Given the description of an element on the screen output the (x, y) to click on. 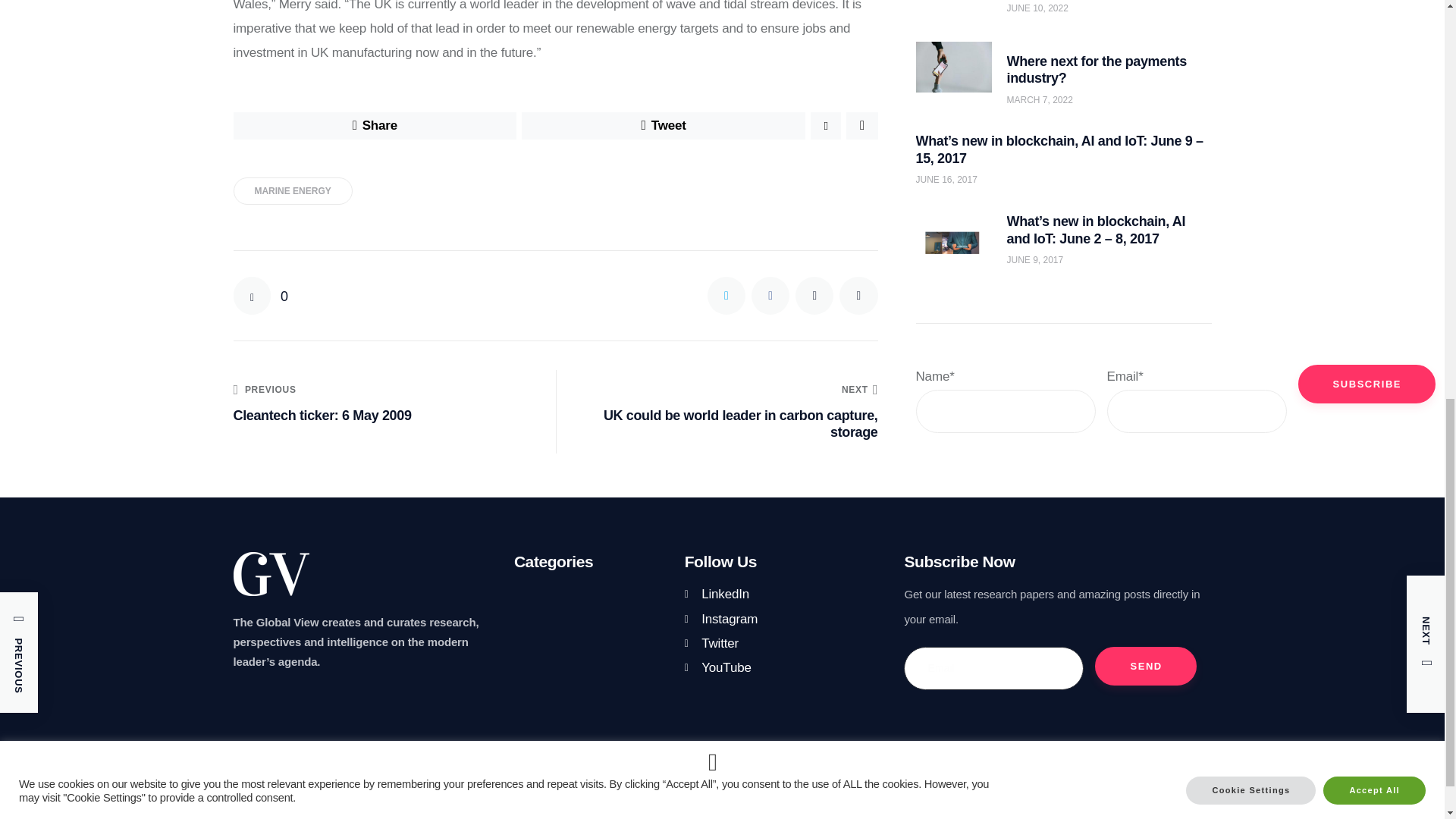
Subscribe (1366, 249)
Send (1144, 666)
Like (260, 295)
Copy URL to clipboard (858, 295)
